Given the description of an element on the screen output the (x, y) to click on. 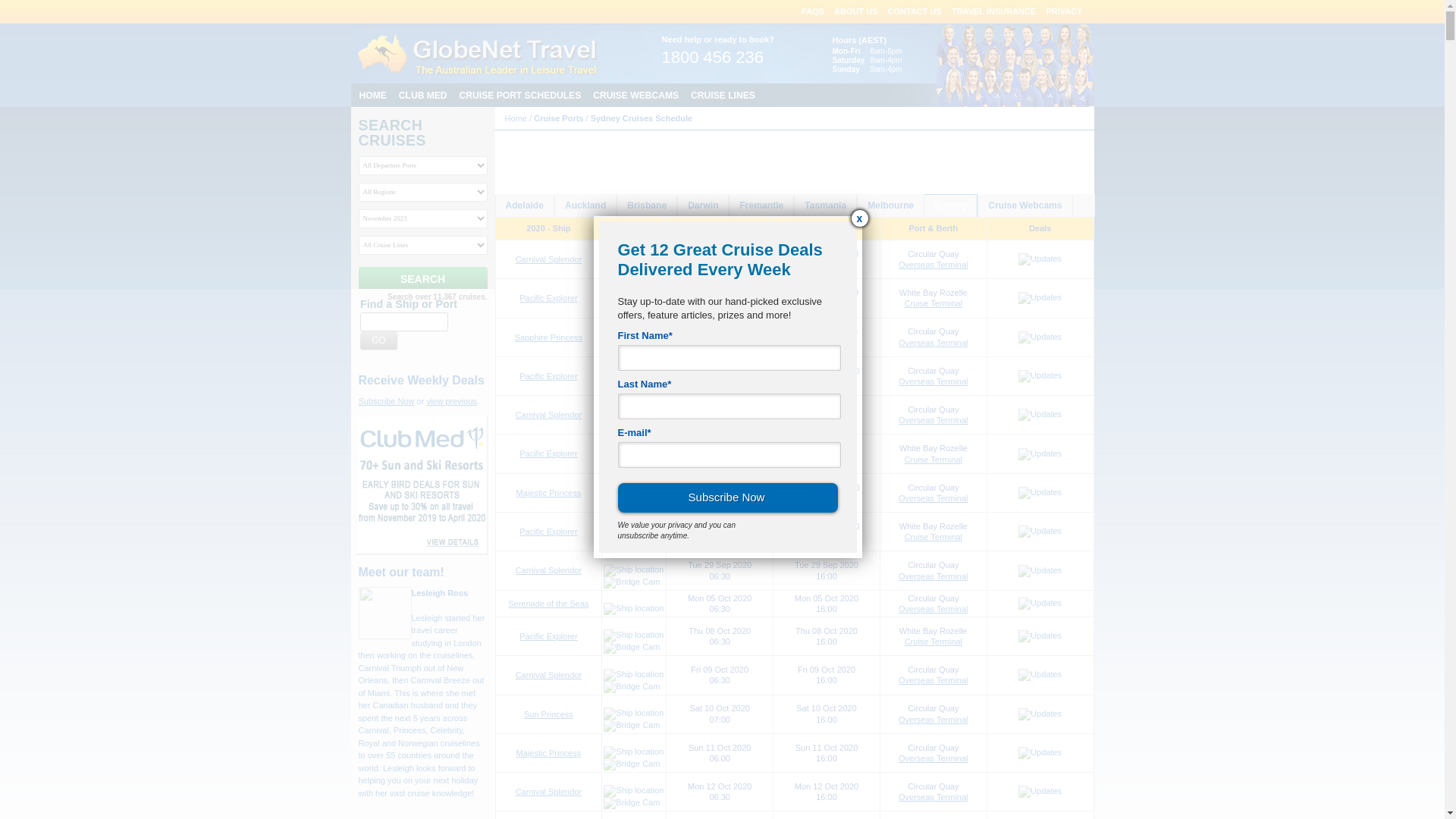
Ship location Element type: hover (633, 297)
Updates Element type: hover (1039, 337)
Updates Element type: hover (1039, 492)
GO Element type: text (378, 340)
Serenade of the Seas Element type: text (548, 603)
Carnival Splendor Element type: text (548, 674)
Ship location Element type: hover (633, 674)
Updates Element type: hover (1039, 570)
Overseas Terminal Element type: text (933, 757)
Updates Element type: hover (1039, 414)
Overseas Terminal Element type: text (933, 380)
Updates Element type: hover (1039, 297)
2022 Element type: text (712, 167)
Carnival Splendor Element type: text (548, 258)
CRUISE LINES Element type: text (722, 94)
Bridge Cam Element type: hover (631, 310)
Pacific Explorer Element type: text (548, 635)
Bridge Cam Element type: hover (631, 725)
Majestic Princess Element type: text (548, 492)
Updates Element type: hover (1039, 752)
Updates Element type: hover (1039, 603)
Overseas Terminal Element type: text (933, 608)
Home Element type: text (516, 117)
ABOUT US Element type: text (855, 10)
Overseas Terminal Element type: text (933, 497)
Updates Element type: hover (1039, 714)
Updates Element type: hover (1039, 454)
Bridge Cam Element type: hover (631, 387)
Overseas Terminal Element type: text (933, 719)
Darwin Element type: text (702, 205)
Globe Net Travel Element type: text (477, 53)
Ship location Element type: hover (633, 258)
Pacific Explorer Element type: text (548, 453)
First Name Element type: hover (728, 357)
Fremantle Element type: text (761, 205)
Pacific Explorer Element type: text (548, 297)
Carnival Splendor Element type: text (548, 791)
Last Name Element type: hover (728, 406)
HERE Element type: text (765, 179)
Pacific Explorer Element type: text (548, 531)
Ship location Element type: hover (633, 713)
Brisbane Element type: text (646, 205)
PRIVACY Element type: text (1063, 10)
Overseas Terminal Element type: text (933, 342)
Bridge Cam Element type: hover (631, 686)
Cruise Terminal Element type: text (933, 641)
Subscribe Now Element type: text (385, 400)
Bridge Cam Element type: hover (631, 647)
HOME Element type: text (372, 94)
Bridge Cam Element type: hover (631, 582)
Sapphire Princess Element type: text (548, 337)
Bridge Cam Element type: hover (631, 504)
Cruise Ports Element type: text (558, 117)
Sydney Element type: text (950, 205)
Bridge Cam Element type: hover (631, 348)
Ship location Element type: hover (633, 492)
Updates Element type: hover (1039, 259)
Meet our Team Element type: hover (1021, 65)
Ship location Element type: hover (633, 336)
Updates Element type: hover (1039, 376)
Ship location Element type: hover (633, 635)
view previous Element type: text (451, 400)
FAQS Element type: text (812, 10)
Carnival Splendor Element type: text (548, 569)
TRAVEL INSURANCE Element type: text (993, 10)
Sydney Cruises Schedule Element type: text (641, 117)
CRUISE PORT SCHEDULES Element type: text (520, 94)
SEARCH Element type: text (421, 278)
Adelaide Element type: text (524, 205)
1800 456 236 Element type: text (712, 59)
2021 Element type: text (684, 167)
Bridge Cam Element type: hover (631, 426)
Bridge Cam Element type: hover (631, 270)
Ship location Element type: hover (633, 570)
Overseas Terminal Element type: text (933, 419)
Bridge Cam Element type: hover (631, 803)
CRUISE WEBCAMS Element type: text (635, 94)
Lesleigh Ross Element type: text (439, 592)
CLUB MED Element type: text (422, 94)
E-mail Address Element type: hover (728, 454)
Overseas Terminal Element type: text (933, 679)
Bridge Cam Element type: hover (631, 465)
Majestic Princess Element type: text (548, 752)
CONTACT US Element type: text (914, 10)
Overseas Terminal Element type: text (933, 575)
Ship location Element type: hover (633, 375)
2020 Element type: text (656, 167)
Cruise Terminal Element type: text (933, 302)
Tasmania Element type: text (825, 205)
Auckland Element type: text (585, 205)
Pacific Explorer Element type: text (548, 375)
Carnival Splendor Element type: text (548, 414)
Updates Element type: hover (1039, 674)
Updates Element type: hover (1039, 636)
Cruise Webcams Element type: text (1024, 205)
Ship location Element type: hover (633, 530)
Melbourne Element type: text (890, 205)
Sun Princess Element type: text (548, 713)
Ship location Element type: hover (633, 790)
Bridge Cam Element type: hover (631, 764)
Ship location Element type: hover (633, 752)
Cruise Terminal Element type: text (933, 459)
Updates Element type: hover (1039, 531)
Updates Element type: hover (1039, 791)
Ship location Element type: hover (633, 453)
Overseas Terminal Element type: text (933, 796)
Subscribe Now Element type: text (727, 497)
Bridge Cam Element type: hover (631, 542)
Cruise Terminal Element type: text (933, 536)
Ship location Element type: hover (633, 413)
Overseas Terminal Element type: text (933, 264)
Ship location Element type: hover (633, 608)
